Given the description of an element on the screen output the (x, y) to click on. 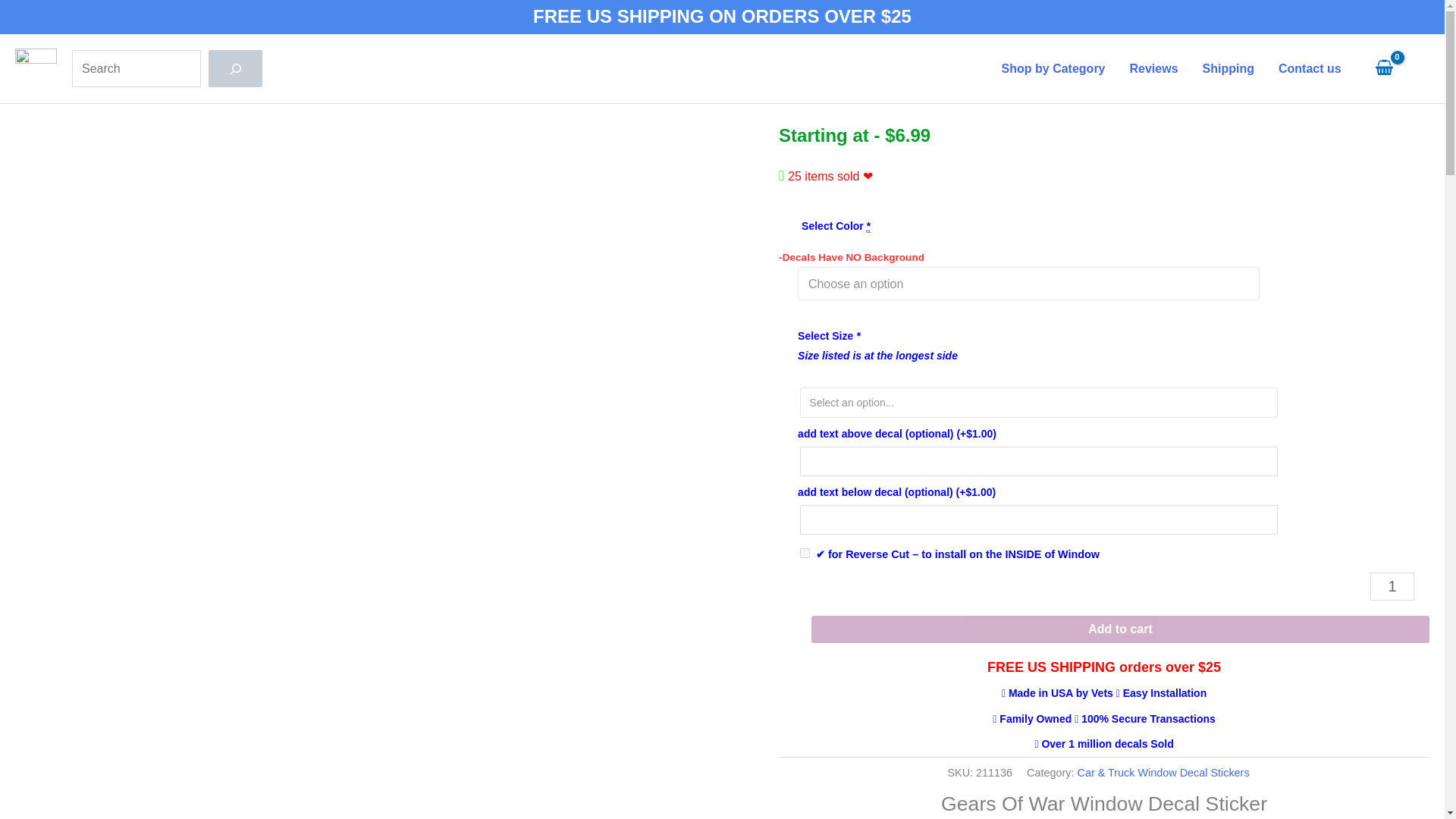
1 (1391, 586)
Shipping (1228, 69)
Add to cart (1119, 628)
Reviews (1154, 69)
Shop by Category (1054, 69)
Contact us (1310, 69)
